Given the description of an element on the screen output the (x, y) to click on. 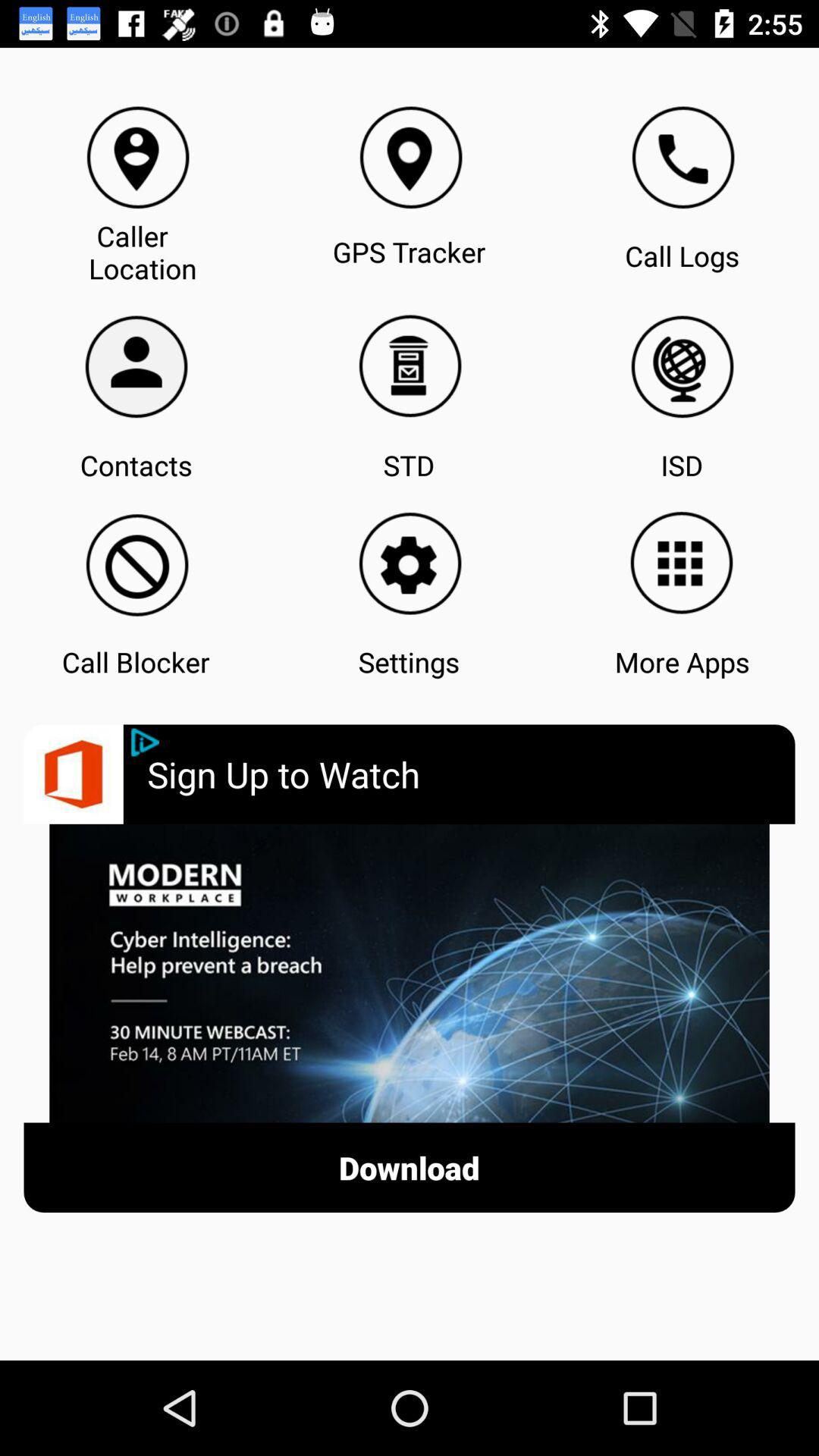
flip until sign up to item (471, 774)
